Given the description of an element on the screen output the (x, y) to click on. 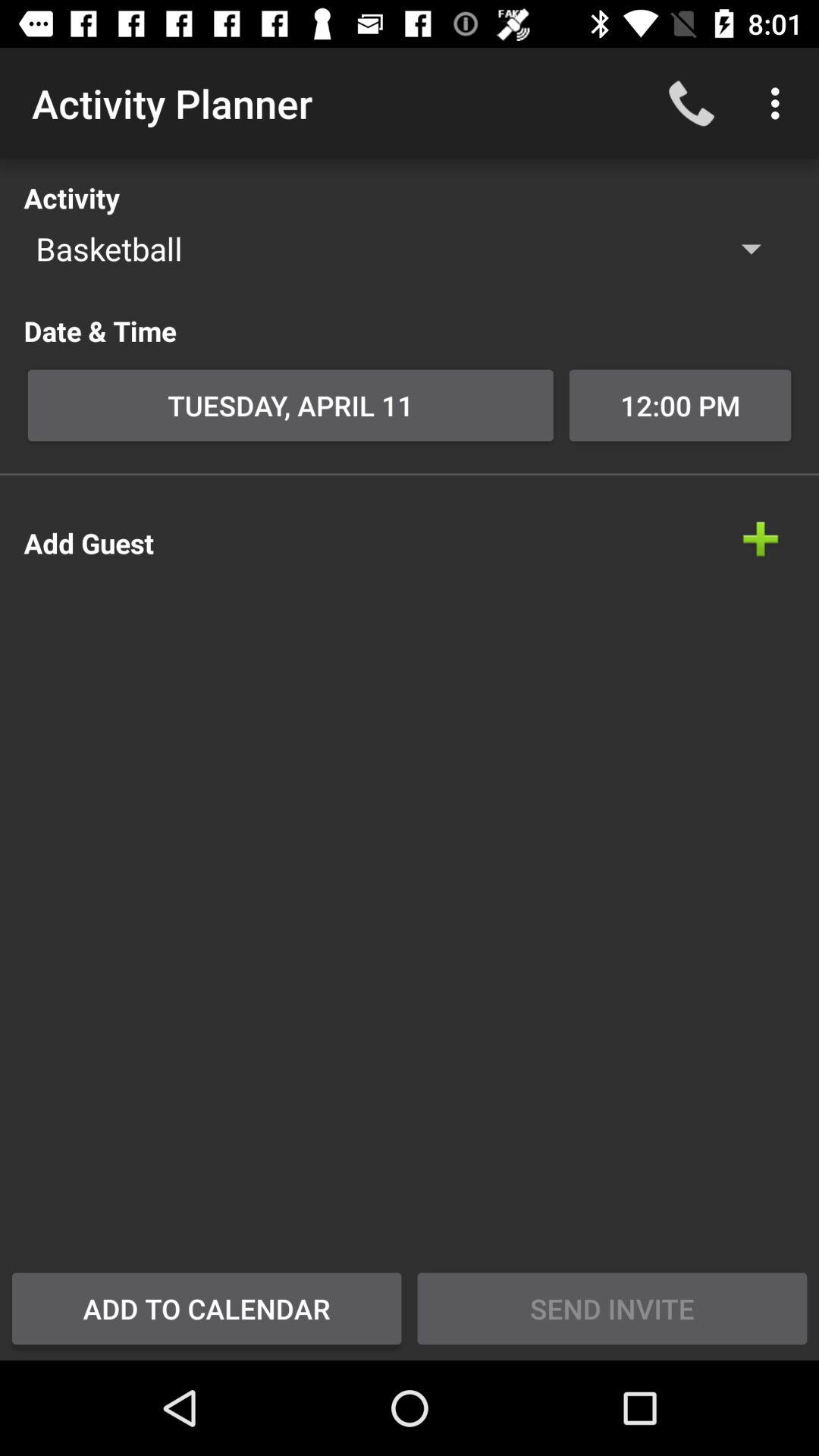
select the icon above the activity item (779, 103)
